Given the description of an element on the screen output the (x, y) to click on. 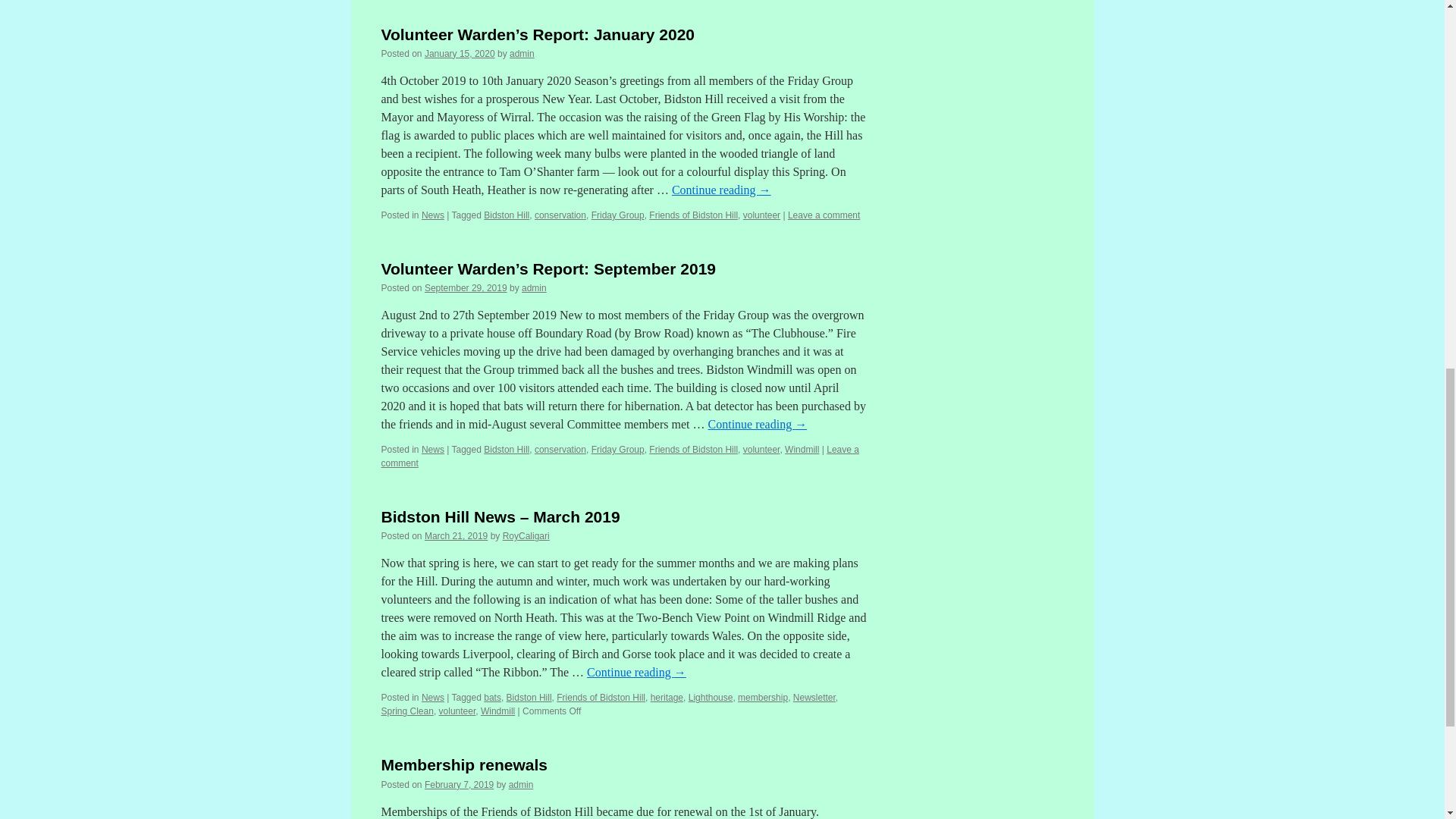
View all posts by admin (521, 53)
6:00 pm (465, 287)
9:48 pm (460, 53)
